Given the description of an element on the screen output the (x, y) to click on. 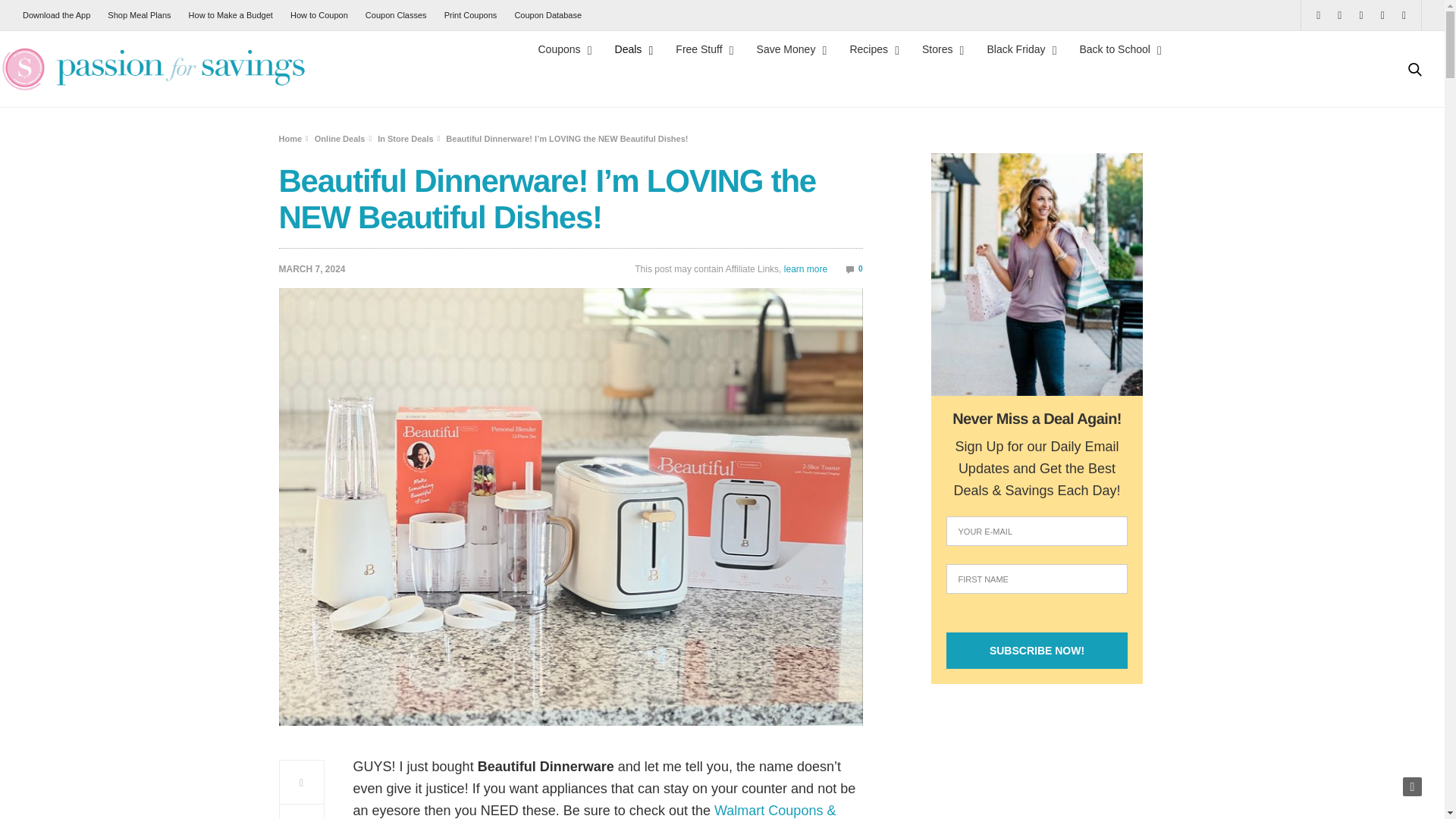
Subscribe Now! (1037, 650)
